Given the description of an element on the screen output the (x, y) to click on. 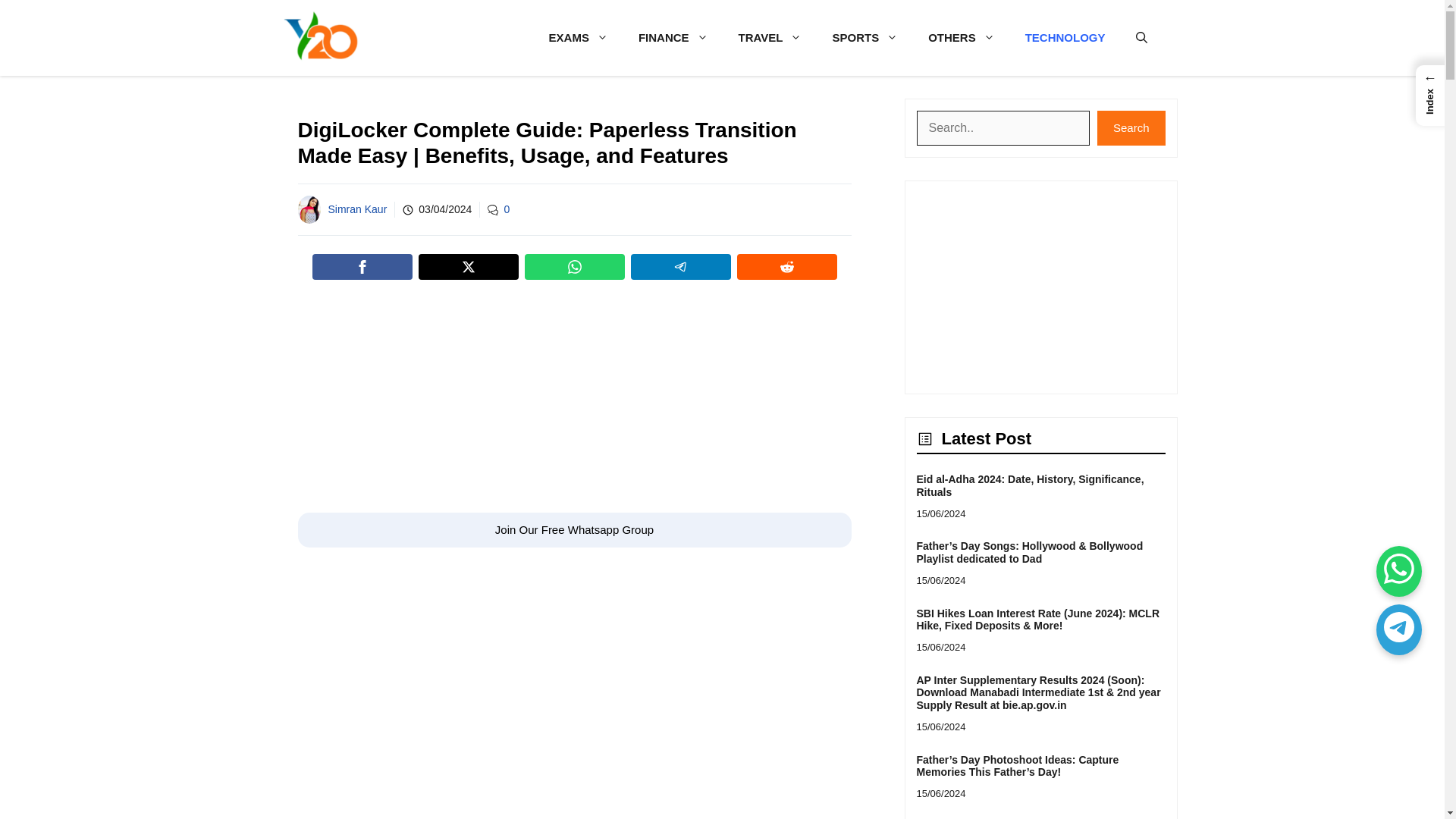
EXAMS (578, 37)
Advertisement (573, 400)
Y20 India (320, 38)
